Given the description of an element on the screen output the (x, y) to click on. 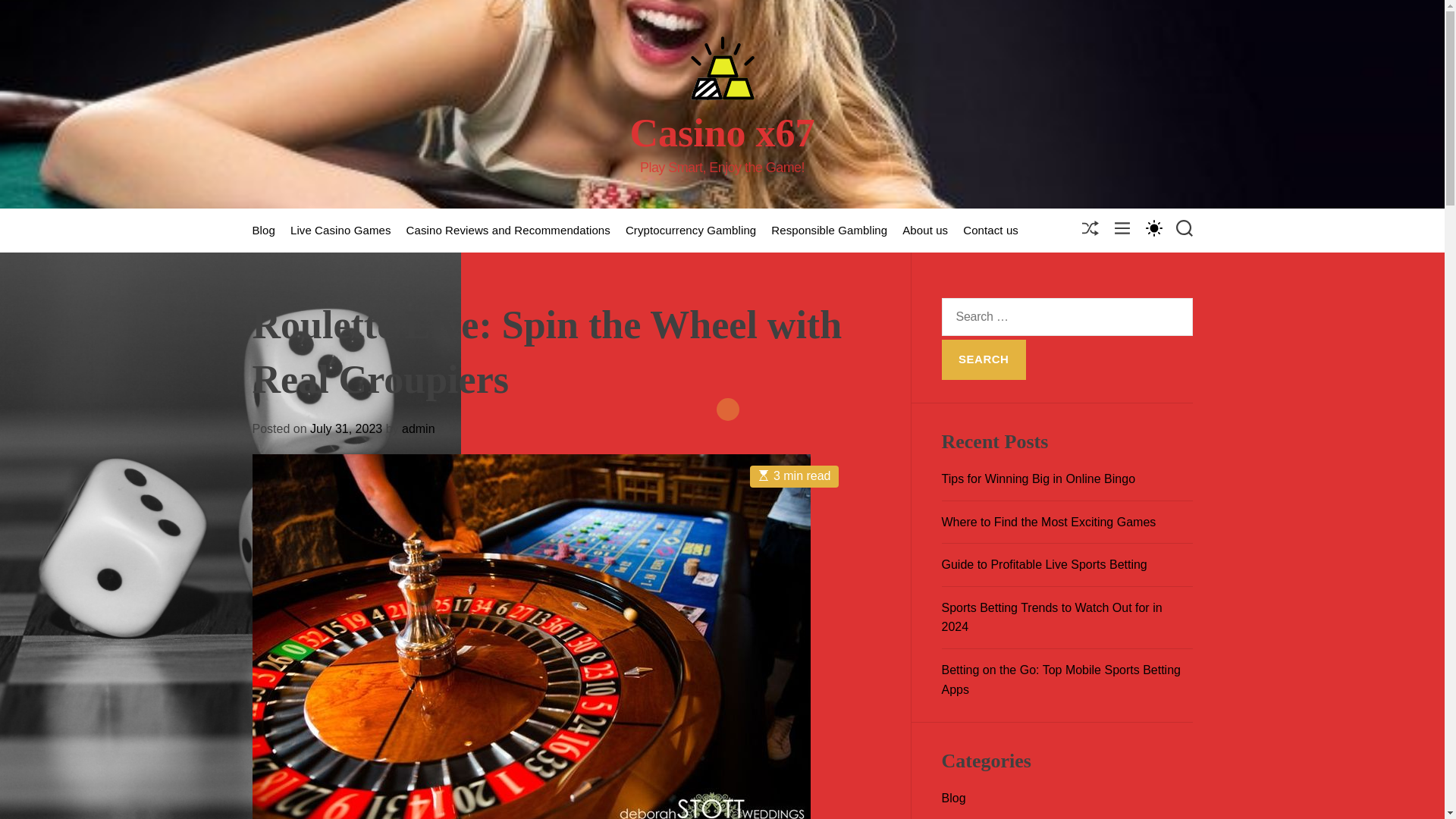
Cryptocurrency Gambling (690, 230)
SWITCH COLOR MODE (1152, 227)
Casino x67 (720, 133)
Contact us (989, 230)
admin (418, 428)
Casino Reviews and Recommendations (508, 230)
Responsible Gambling (828, 230)
Live Casino Games (340, 230)
About us (924, 230)
Search (984, 359)
